Given the description of an element on the screen output the (x, y) to click on. 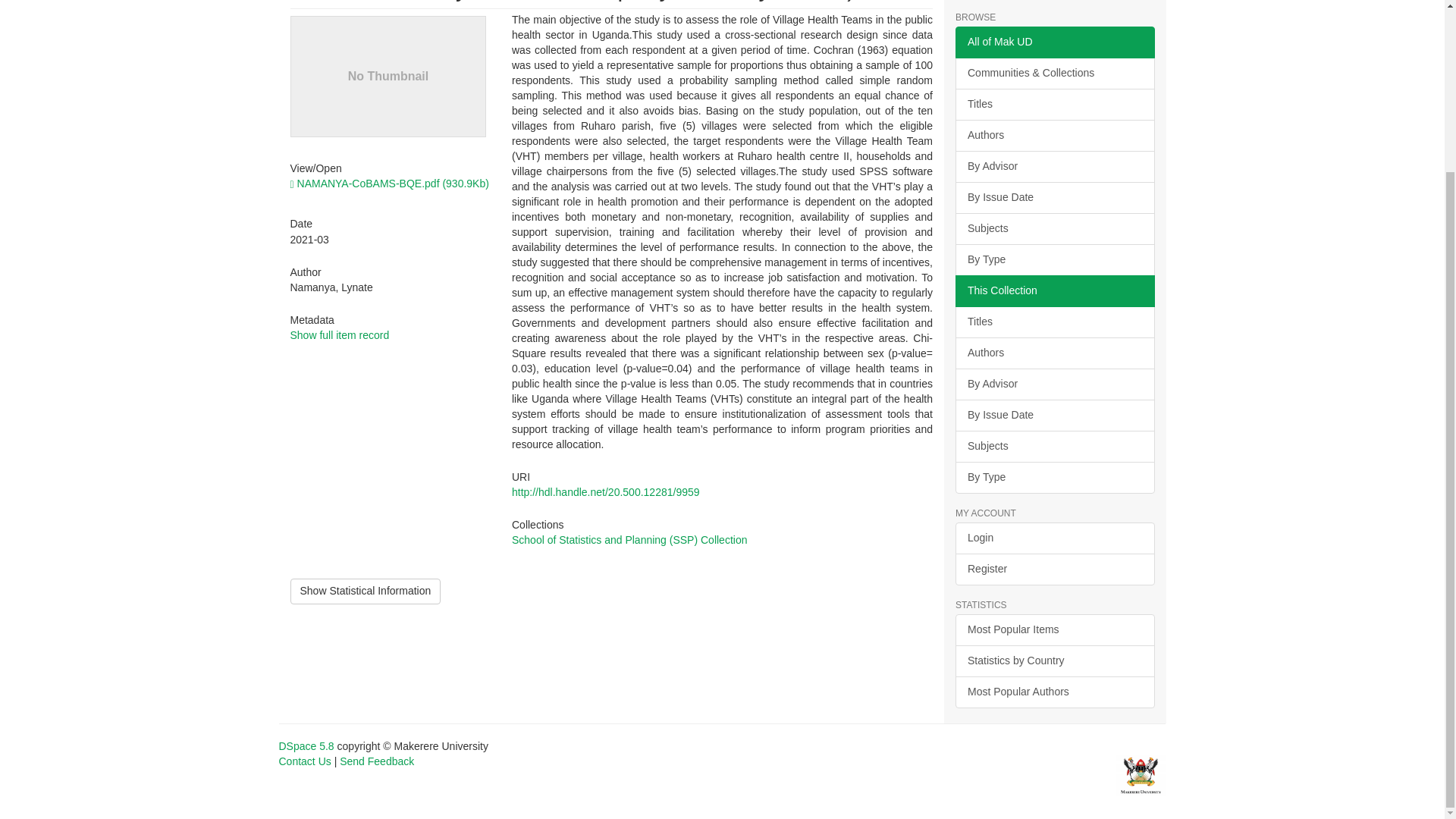
By Advisor (1054, 384)
Show full item record (338, 335)
By Advisor (1054, 166)
Authors (1054, 353)
By Issue Date (1054, 197)
By Issue Date (1054, 415)
All of Mak UD (1054, 42)
Show Statistical Information (365, 591)
By Type (1054, 260)
Titles (1054, 104)
Subjects (1054, 228)
Titles (1054, 322)
This Collection (1054, 291)
Atmire NV (1141, 775)
Authors (1054, 135)
